Given the description of an element on the screen output the (x, y) to click on. 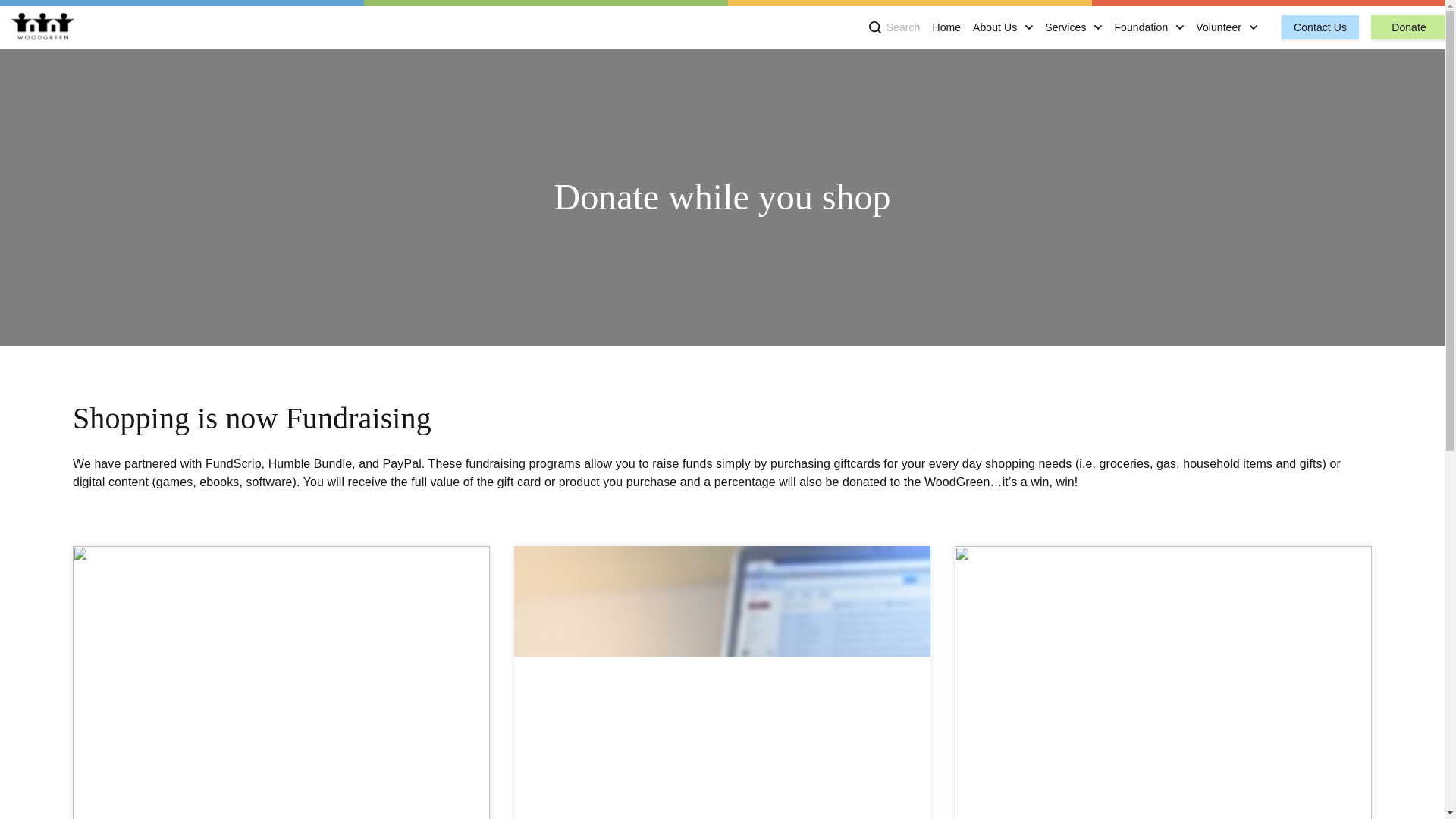
Services (1065, 27)
Search (894, 27)
Home (945, 27)
Foundation (1140, 27)
About Us (994, 27)
Volunteer (1218, 27)
